Given the description of an element on the screen output the (x, y) to click on. 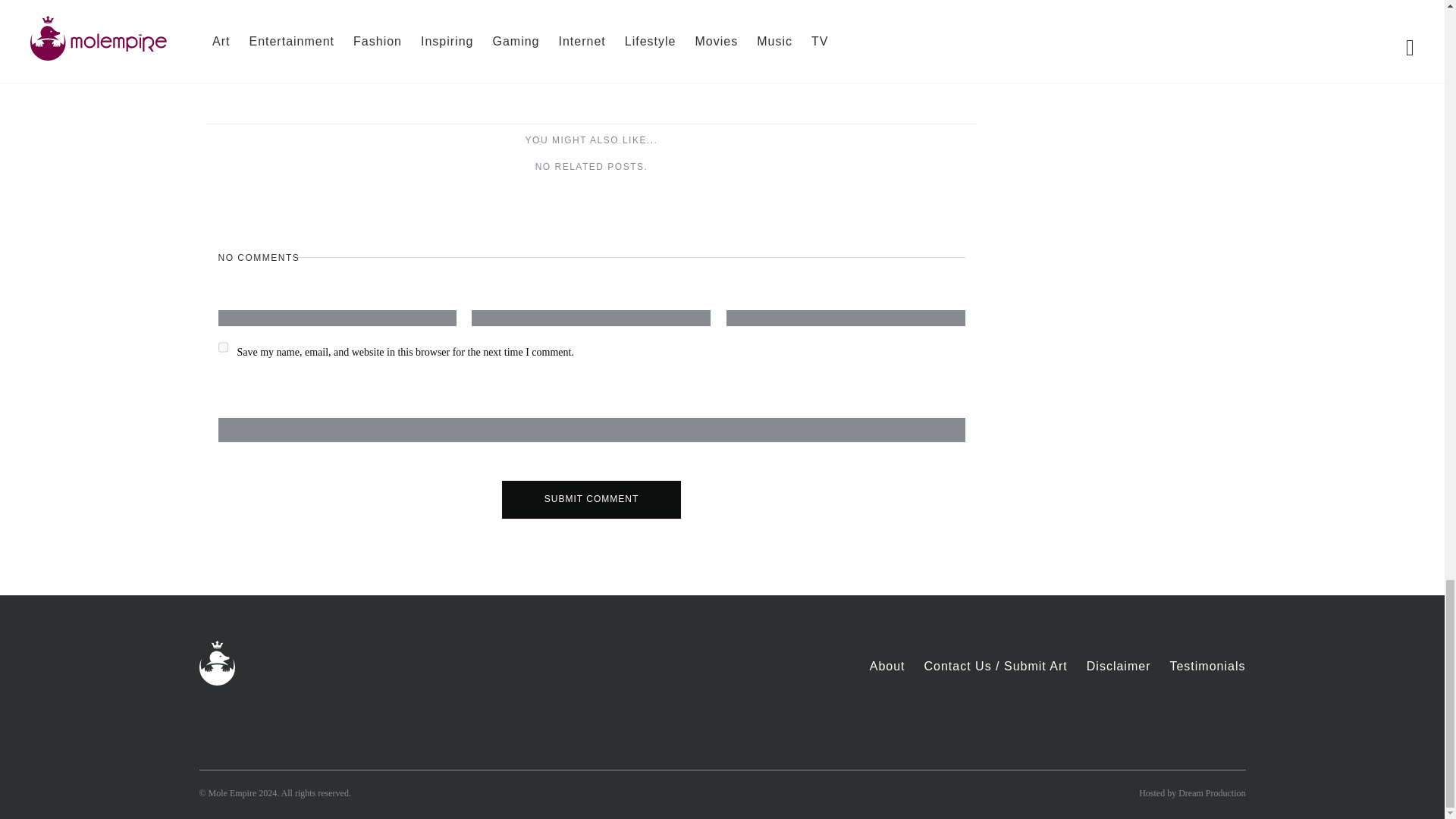
Andrei (441, 22)
Mitch Moose (782, 22)
Andrei (447, 2)
Submit comment (591, 499)
